Given the description of an element on the screen output the (x, y) to click on. 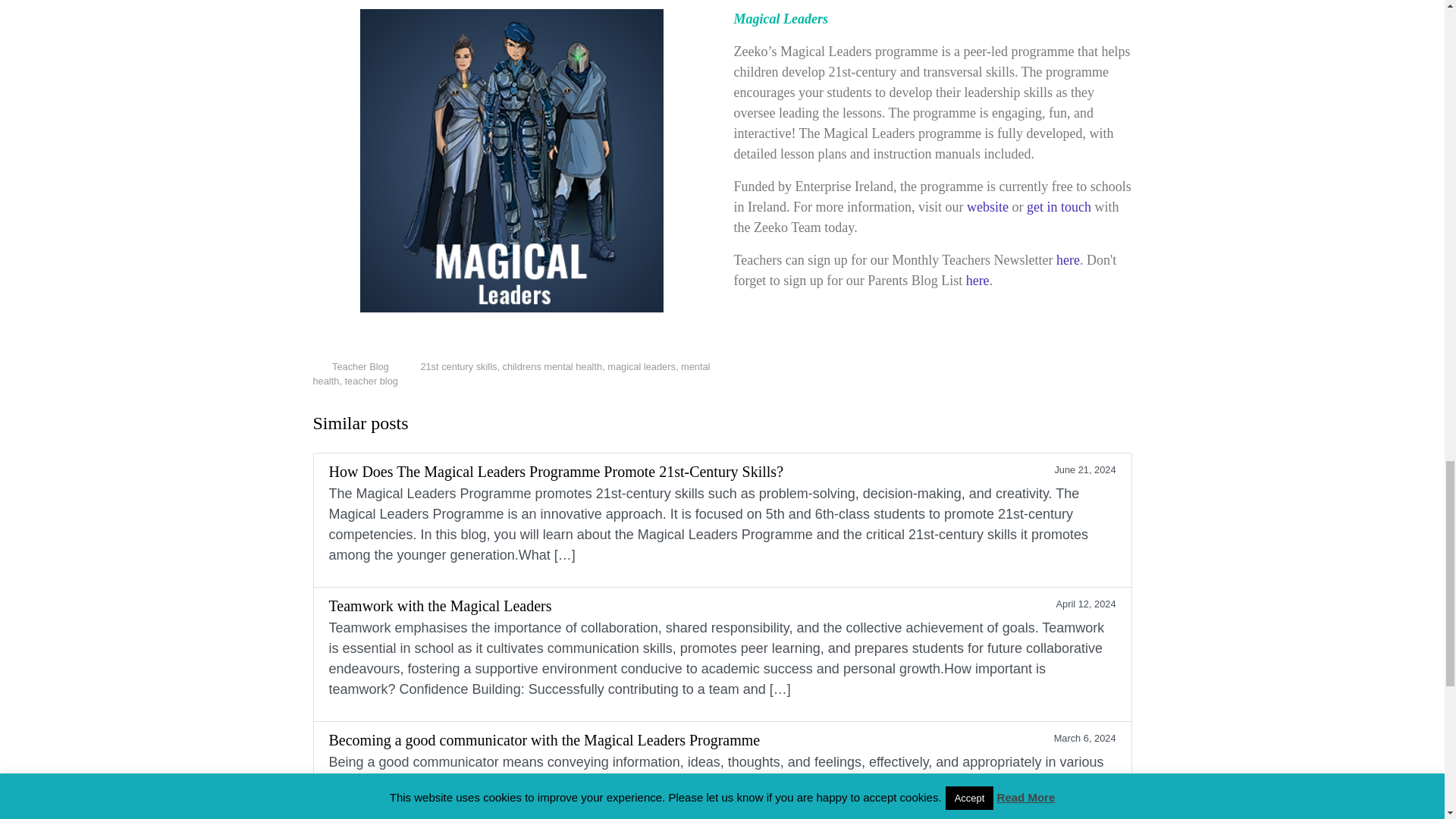
Magical Leaders (511, 160)
Permanent Link to Teamwork with the Magical Leaders (722, 654)
